Given the description of an element on the screen output the (x, y) to click on. 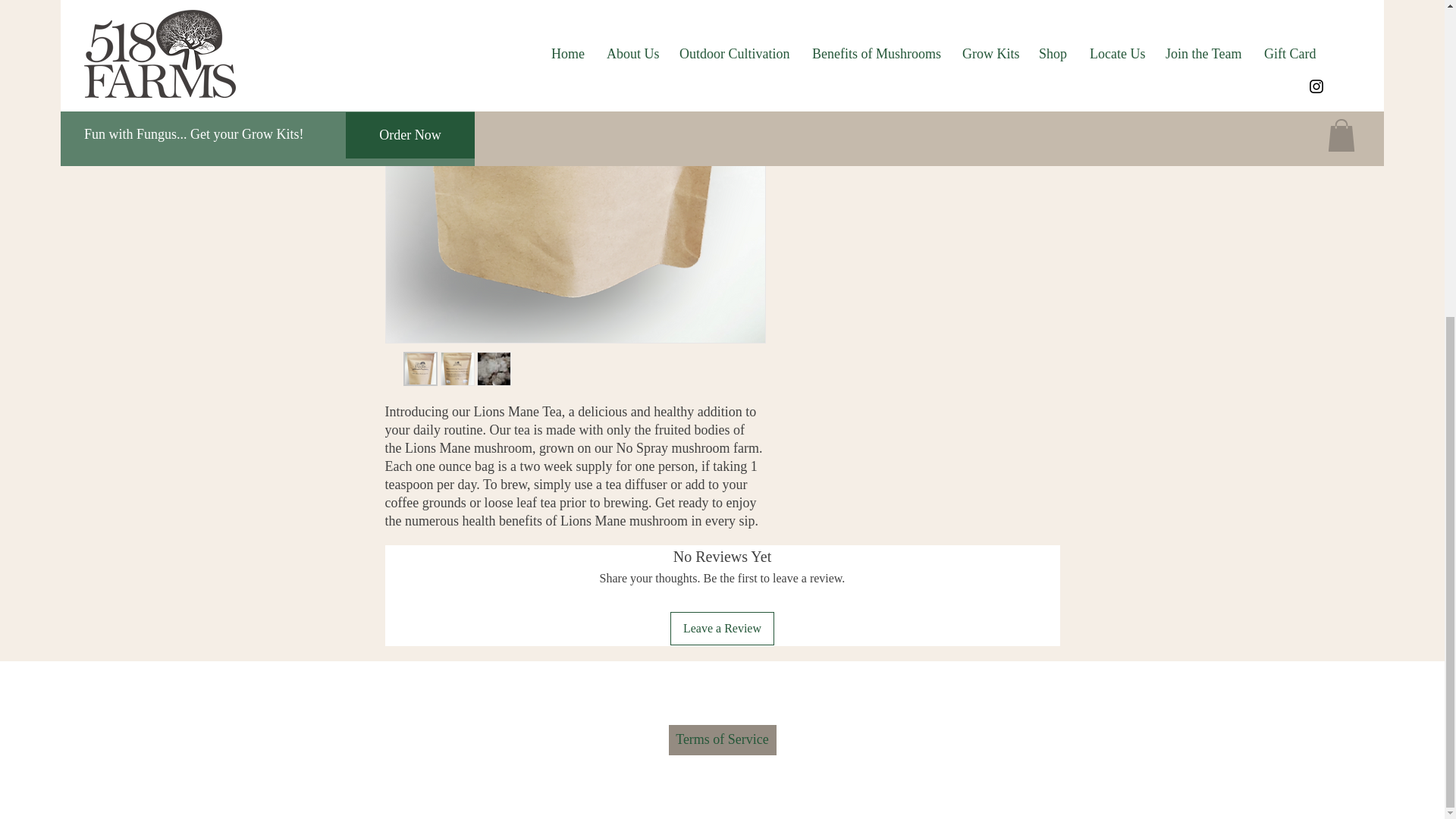
Leave a Review (721, 628)
Terms of Service (722, 739)
